Given the description of an element on the screen output the (x, y) to click on. 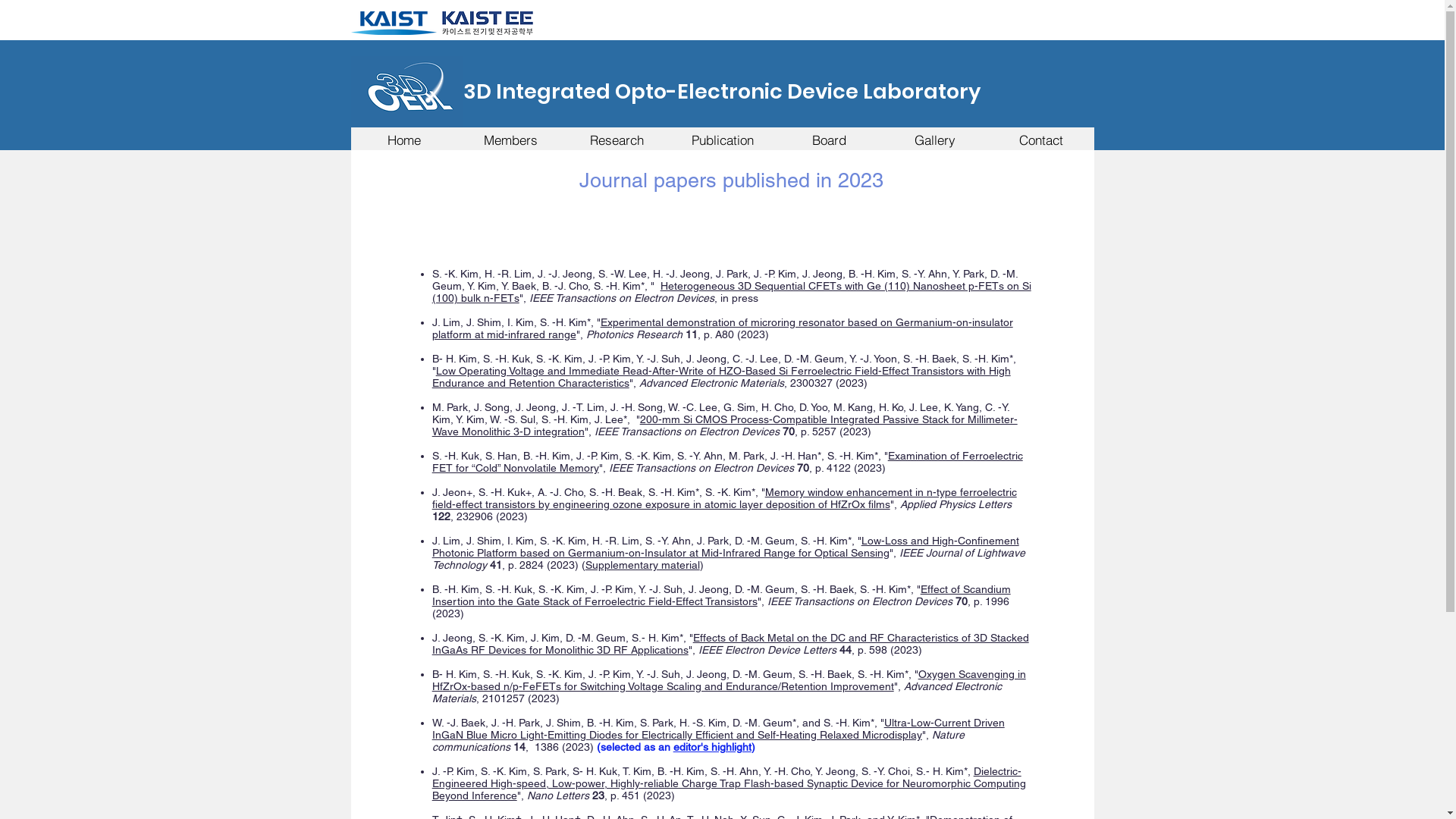
Supplementary material Element type: text (642, 564)
Contact Element type: text (1040, 139)
editor's highlight Element type: text (712, 746)
Gallery Element type: text (934, 139)
Research Element type: text (615, 139)
3D Integrated Opto-Electronic Device Laboratory Element type: text (720, 91)
Site Search Element type: hover (1002, 21)
Board Element type: text (828, 139)
Home Element type: text (403, 139)
